Given the description of an element on the screen output the (x, y) to click on. 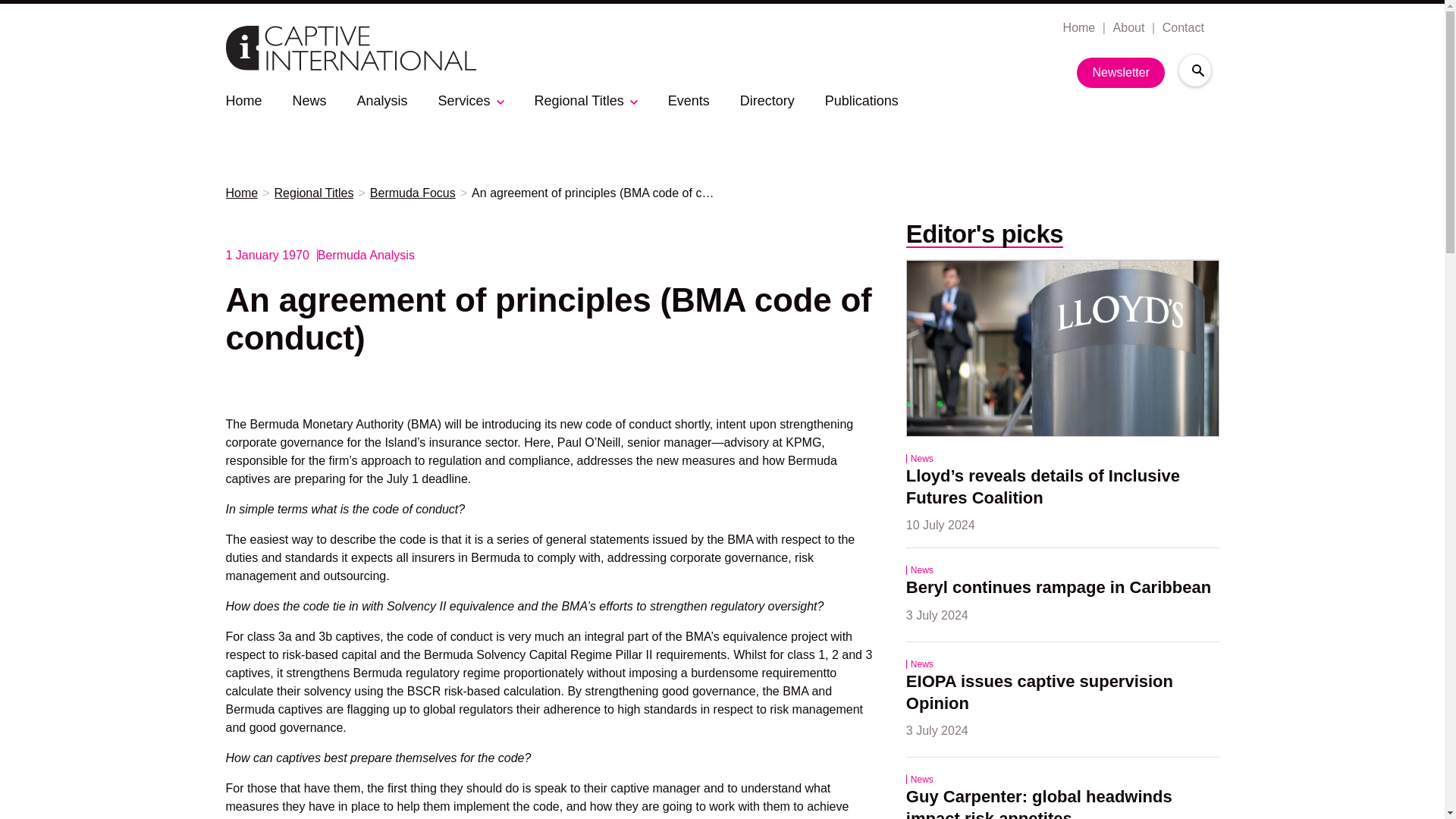
Home (242, 193)
Regional Titles (314, 193)
Services (464, 100)
Events (689, 100)
Contact (1181, 28)
Newsletter (1120, 72)
Publications (861, 100)
Home (1078, 28)
Analysis (381, 100)
Guy Carpenter: global headwinds impact risk appetites (1040, 803)
Home (243, 100)
Directory (766, 100)
EIOPA issues captive supervision Opinion (1041, 692)
Beryl continues rampage in Caribbean (1058, 588)
About (1126, 28)
